Given the description of an element on the screen output the (x, y) to click on. 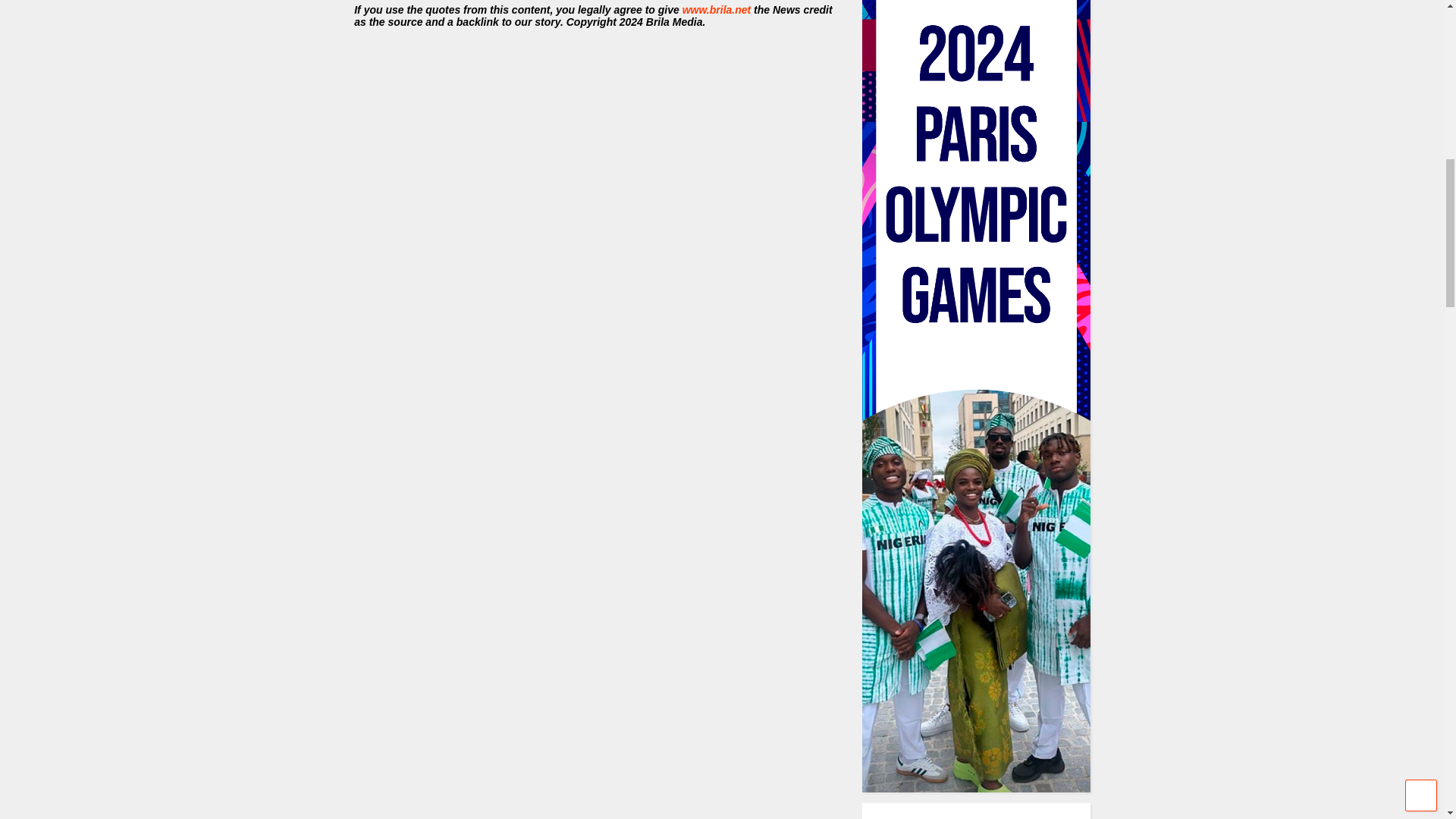
www.brila.net (716, 9)
